Given the description of an element on the screen output the (x, y) to click on. 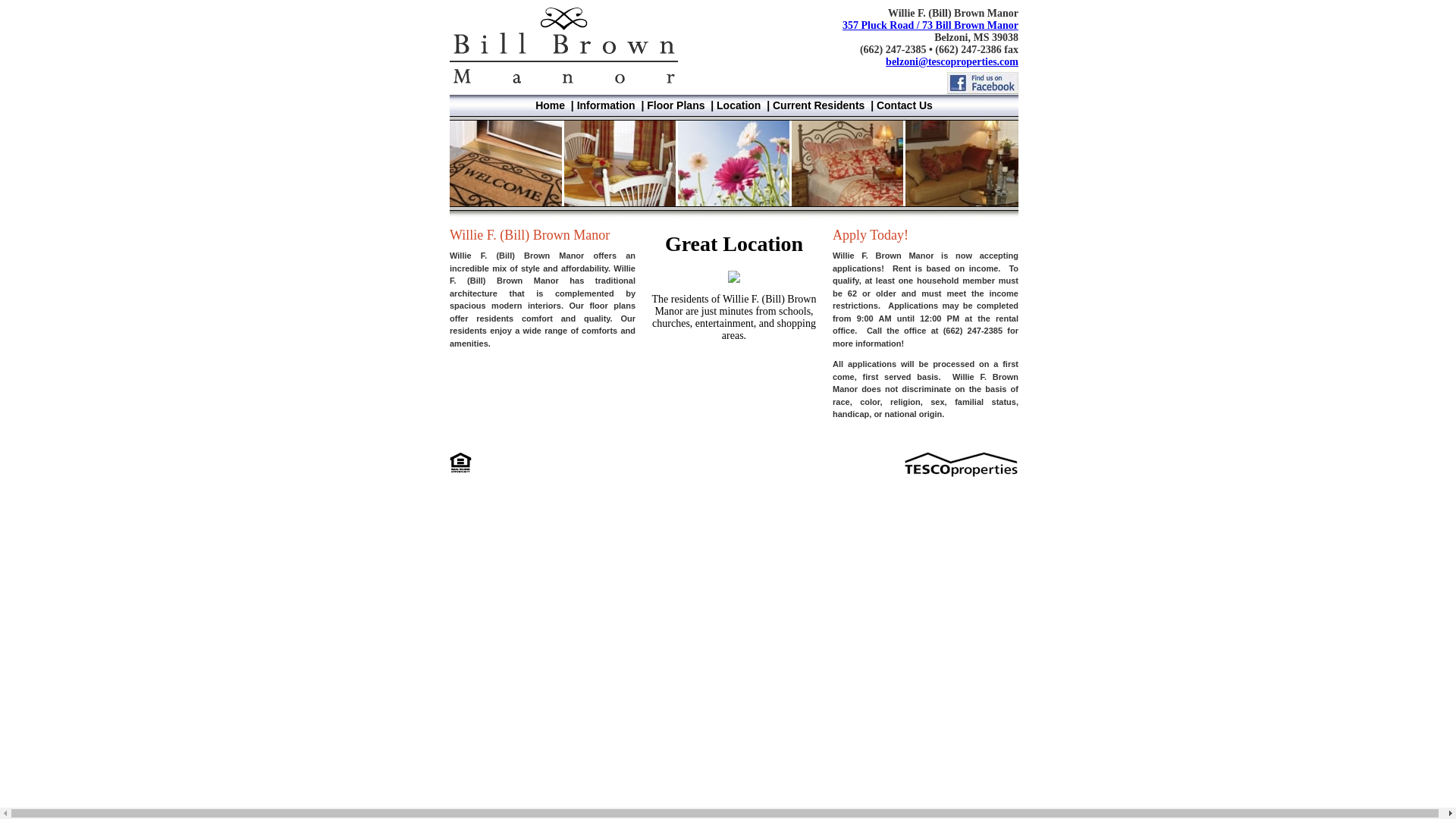
Location (738, 105)
Current Residents (818, 105)
Information (605, 105)
Contact Us (904, 105)
Floor Plans (675, 105)
Home (549, 105)
